Given the description of an element on the screen output the (x, y) to click on. 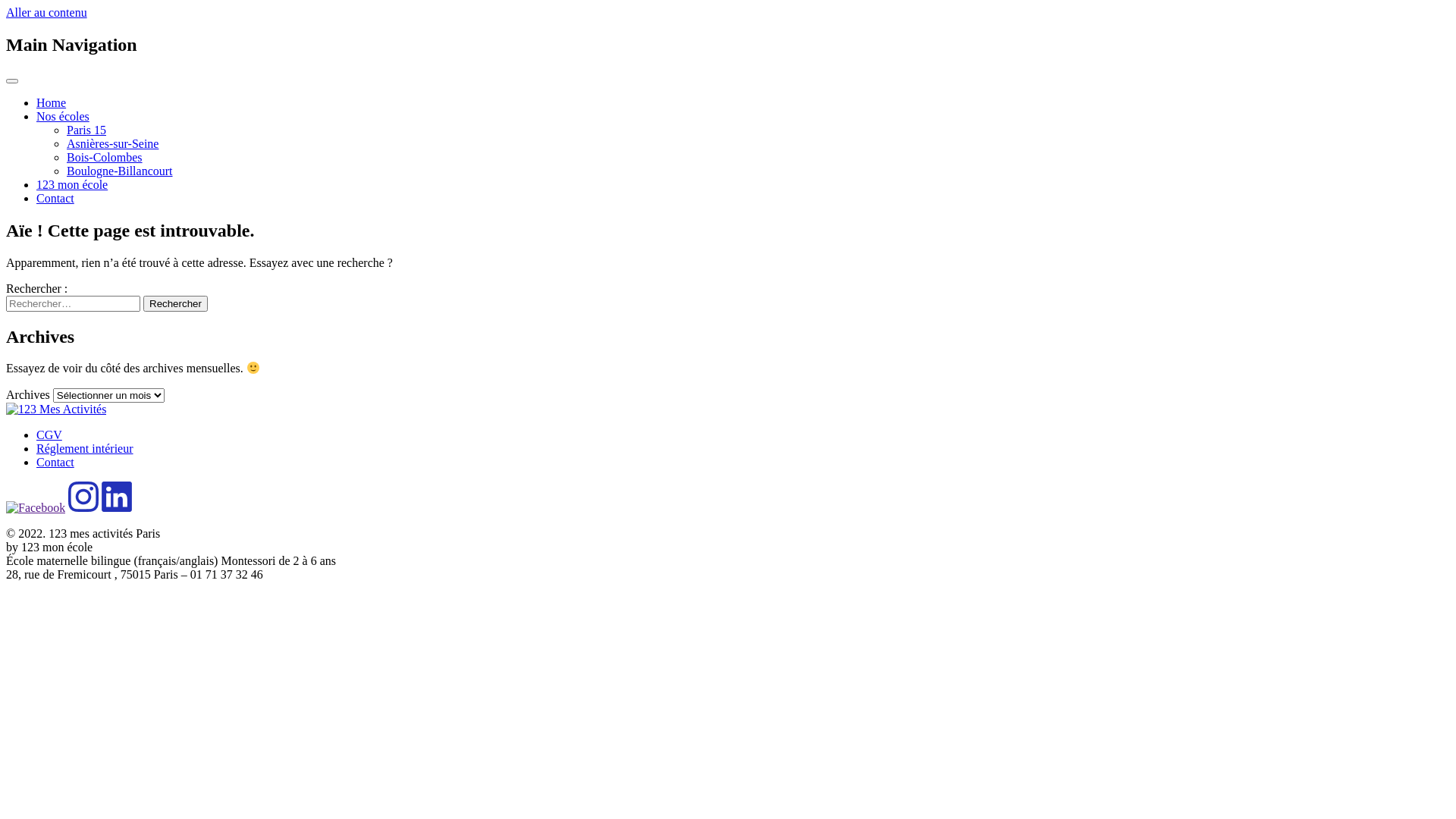
Contact Element type: text (55, 197)
Bois-Colombes Element type: text (104, 156)
Rechercher Element type: text (175, 303)
Contact Element type: text (55, 461)
Aller au contenu Element type: text (46, 12)
CGV Element type: text (49, 434)
Boulogne-Billancourt Element type: text (119, 170)
Paris 15 Element type: text (86, 129)
Home Element type: text (50, 102)
